Given the description of an element on the screen output the (x, y) to click on. 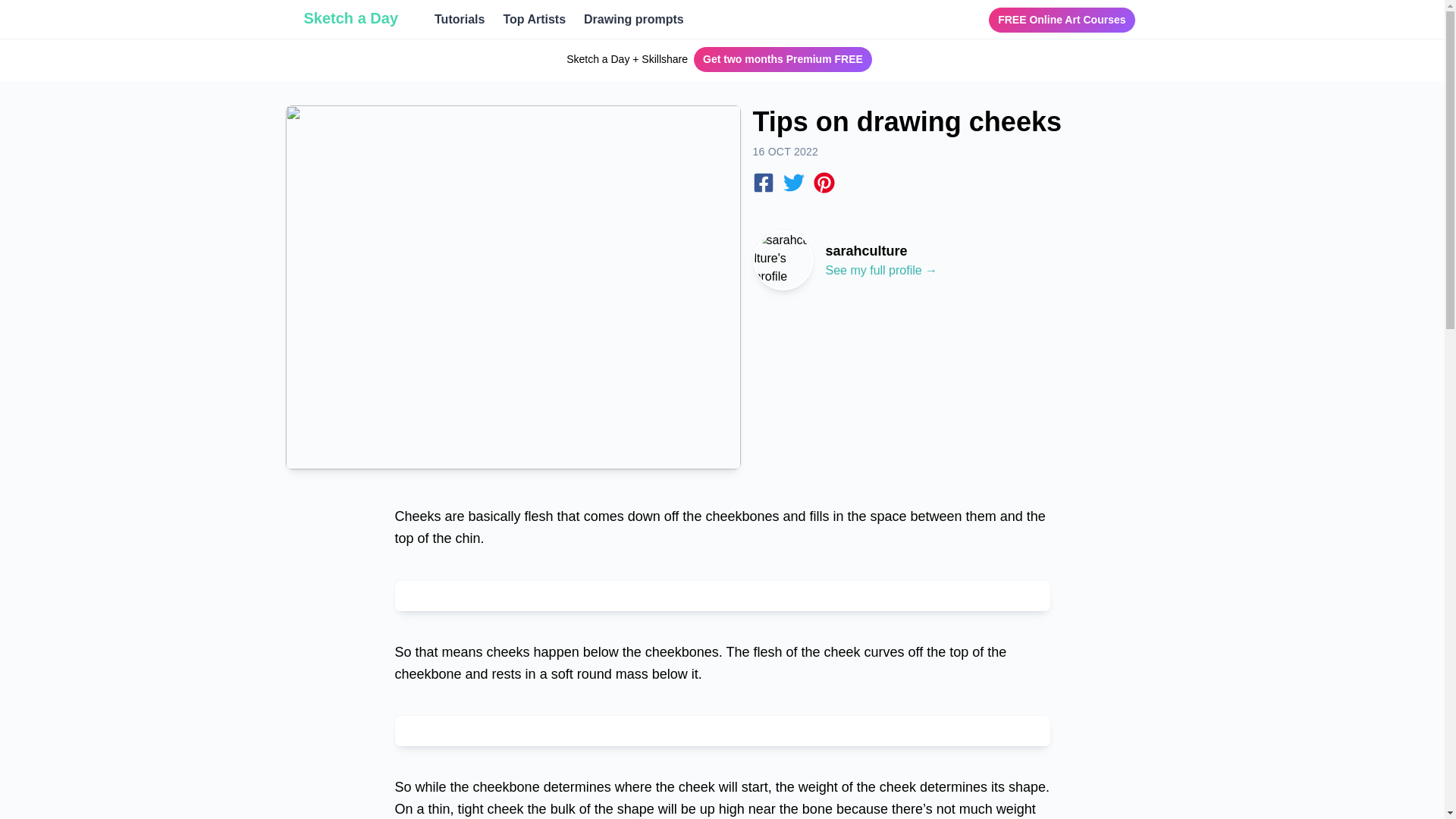
Get two months Premium FREE (783, 59)
Sketch a Day (349, 17)
FREE Online Art Courses (1061, 19)
Top Artists (534, 19)
Drawing prompts (633, 19)
Tutorials (458, 19)
